Given the description of an element on the screen output the (x, y) to click on. 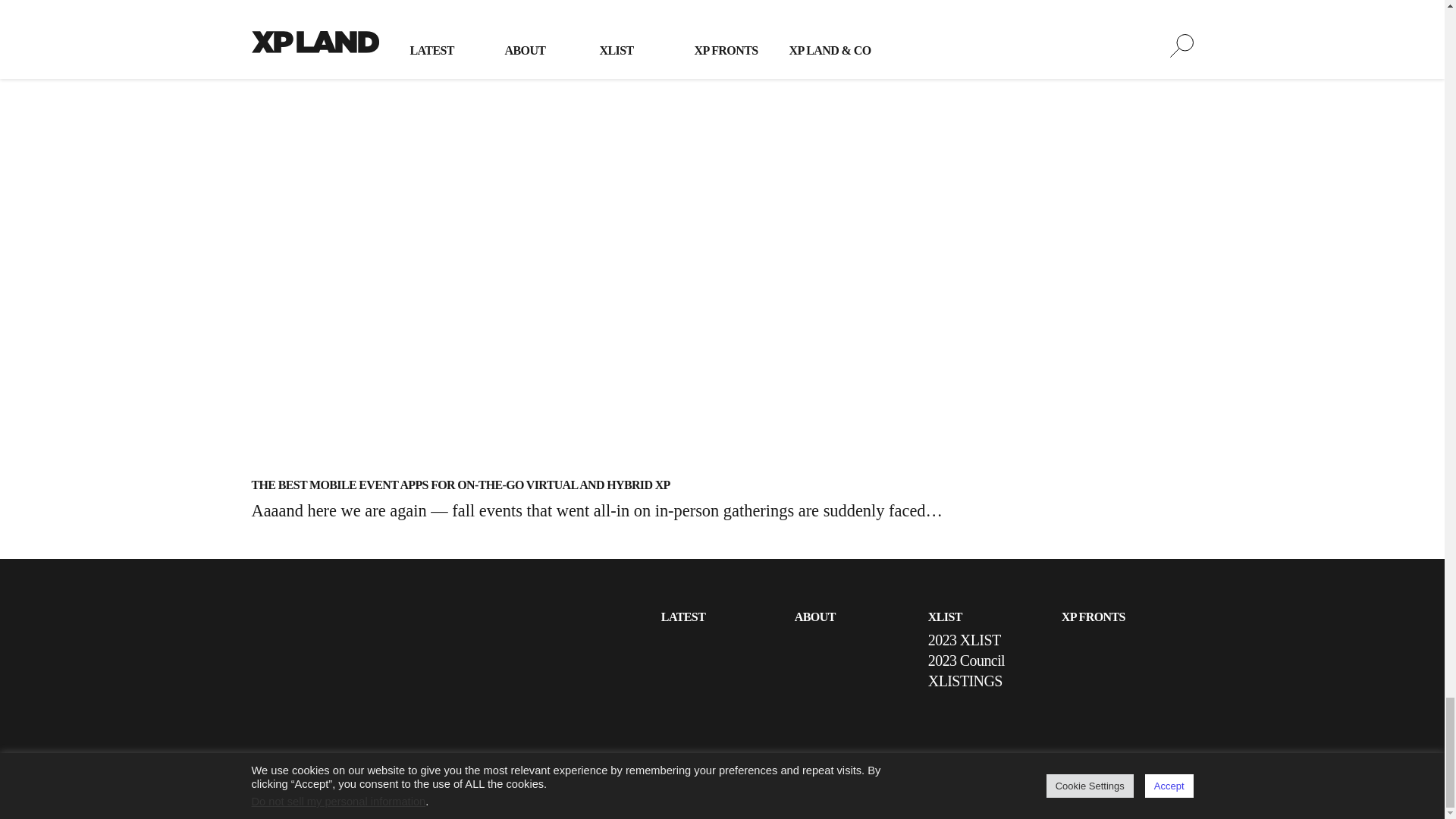
Facebook (1179, 786)
ABOUT (814, 616)
2023 XLIST (964, 639)
Go to the XP Land home page (315, 674)
Linked In (1112, 786)
Privacy Policy (691, 777)
LATEST (682, 616)
2023 Council (966, 660)
Instagram (1146, 786)
XP FRONTS (1093, 616)
XLIST (945, 616)
XLISTINGS (965, 680)
